Given the description of an element on the screen output the (x, y) to click on. 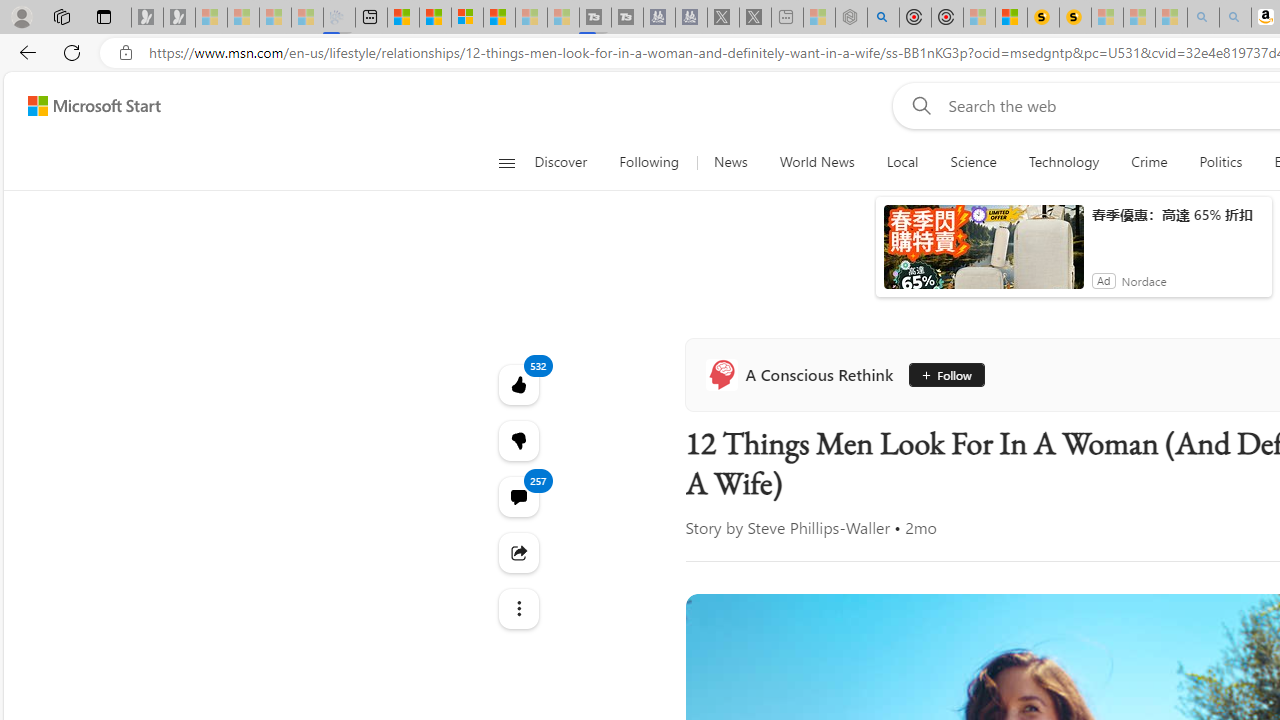
Class: button-glyph (505, 162)
Technology (1063, 162)
Nordace - Summer Adventures 2024 - Sleeping (850, 17)
amazon - Search - Sleeping (1202, 17)
Open navigation menu (506, 162)
Web search (917, 105)
Crime (1149, 162)
